Given the description of an element on the screen output the (x, y) to click on. 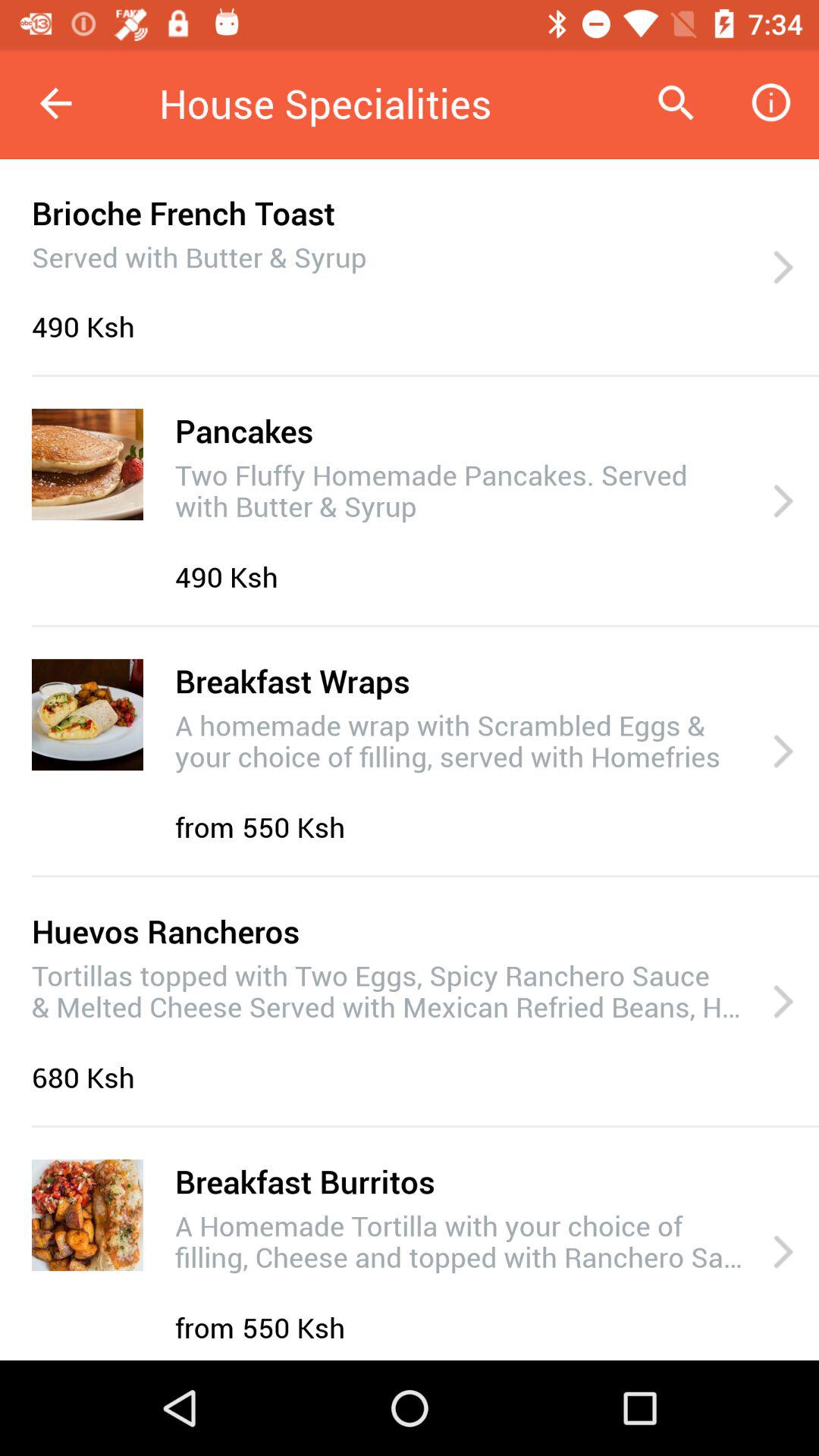
flip to the breakfast burritos (305, 1180)
